Given the description of an element on the screen output the (x, y) to click on. 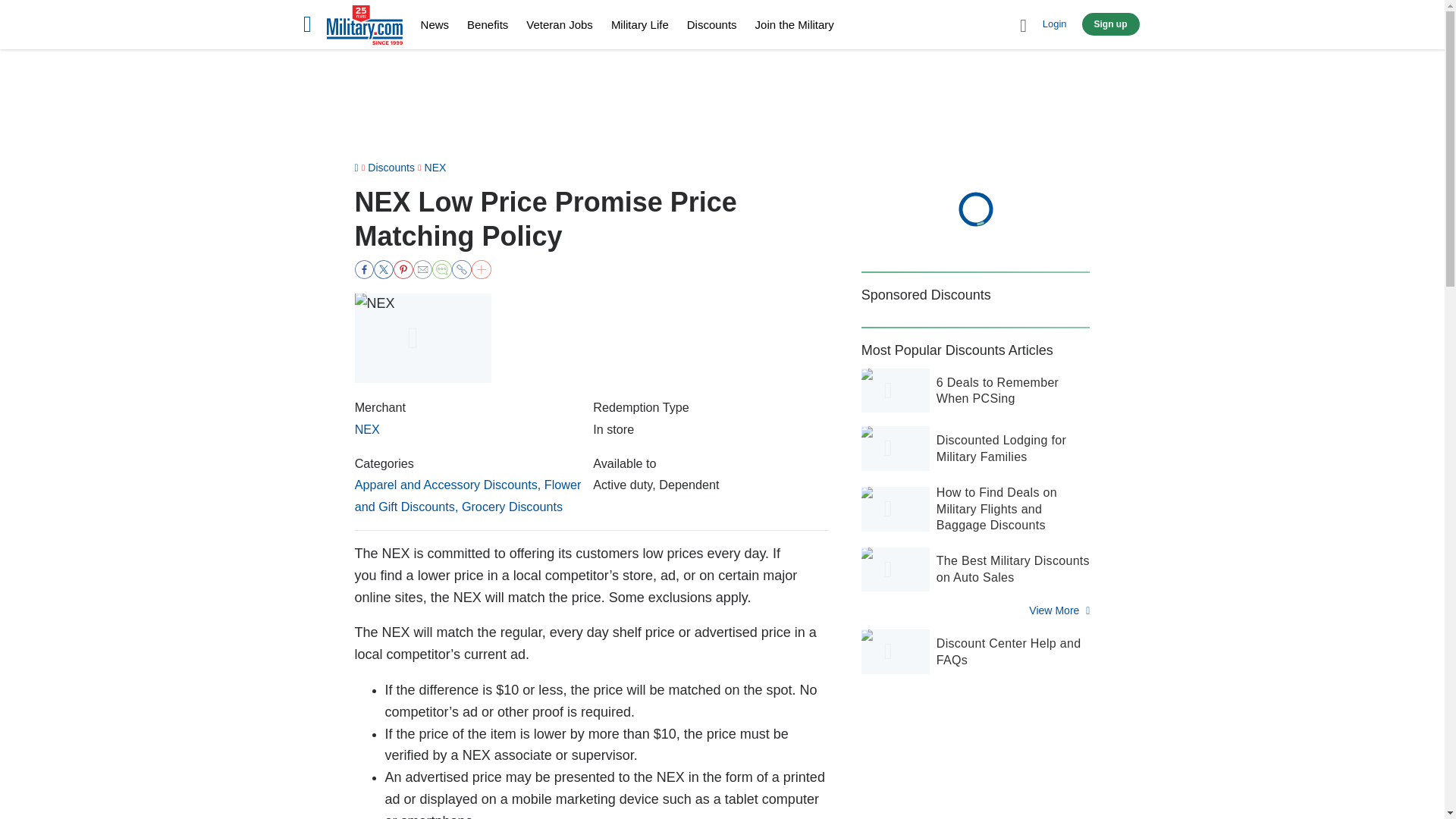
Veteran Jobs (558, 24)
Home (364, 27)
Military Life (639, 24)
Benefits (487, 24)
